Given the description of an element on the screen output the (x, y) to click on. 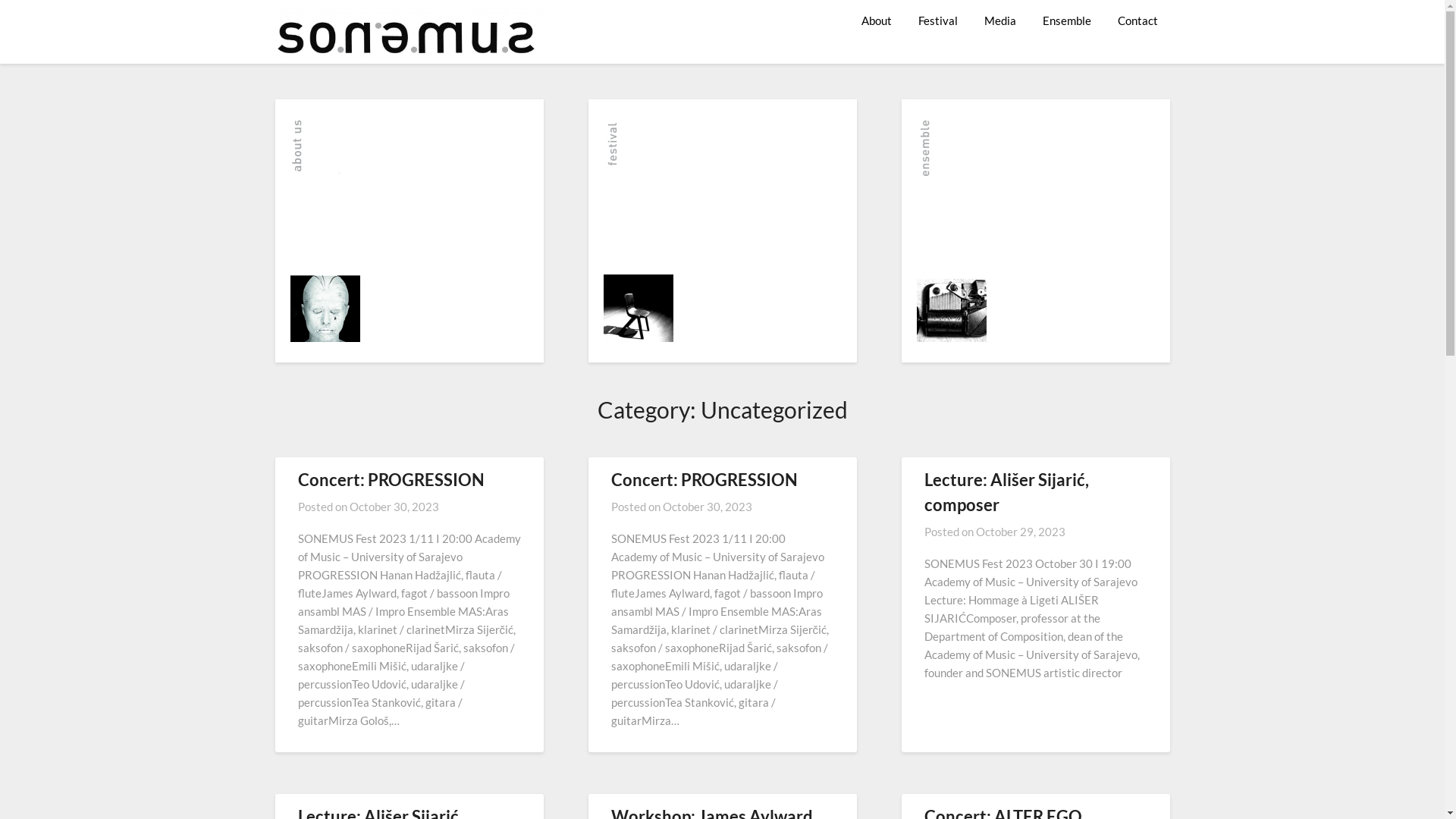
October 29, 2023 Element type: text (1019, 531)
Media Element type: text (1000, 20)
October 30, 2023 Element type: text (393, 506)
Ensemble Element type: text (1065, 20)
Festival Element type: text (937, 20)
Concert: PROGRESSION Element type: text (704, 479)
Concert: PROGRESSION Element type: text (390, 479)
October 30, 2023 Element type: text (707, 506)
About Element type: text (876, 20)
Contact Element type: text (1137, 20)
